Given the description of an element on the screen output the (x, y) to click on. 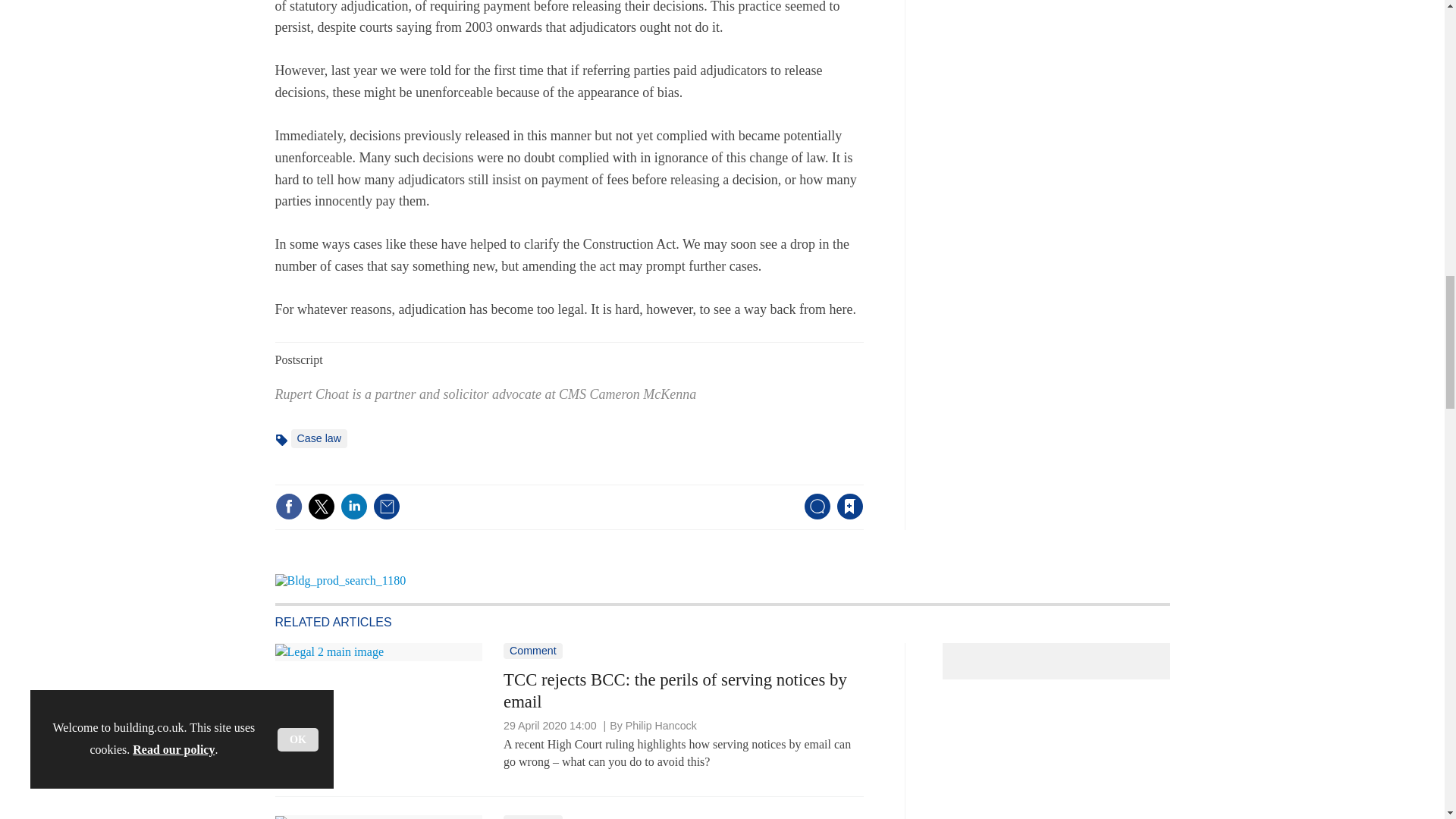
Email this article (386, 506)
Share this on Linked in (352, 506)
No comments (812, 515)
Share this on Twitter (320, 506)
Share this on Facebook (288, 506)
